Given the description of an element on the screen output the (x, y) to click on. 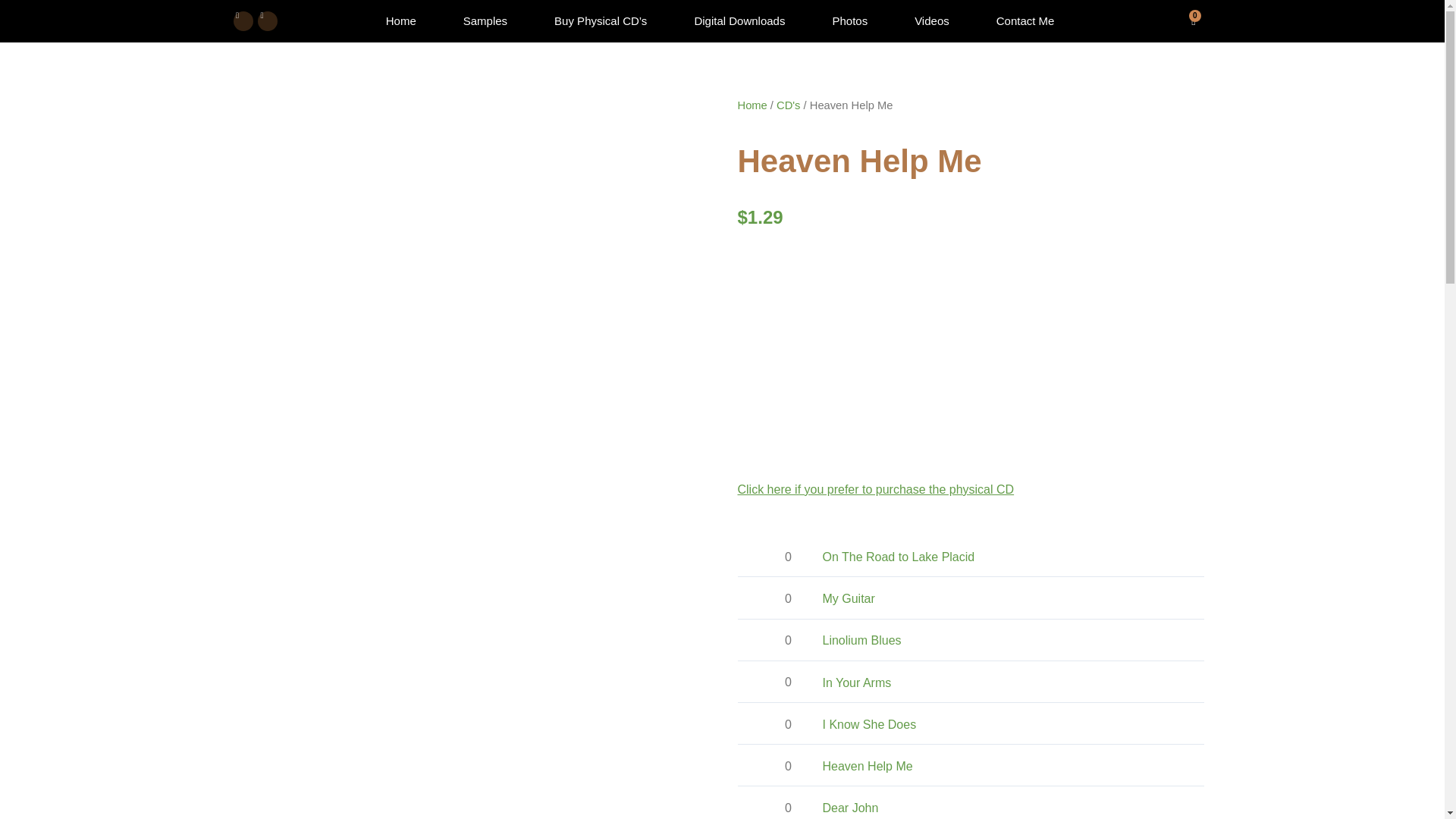
Contact Me (1025, 21)
Photos (849, 21)
Home (400, 21)
Videos (931, 21)
Samples (485, 21)
Facebook-f (242, 21)
Twitter (267, 21)
Heaven Help Me (874, 489)
Digital Downloads (1193, 20)
